Given the description of an element on the screen output the (x, y) to click on. 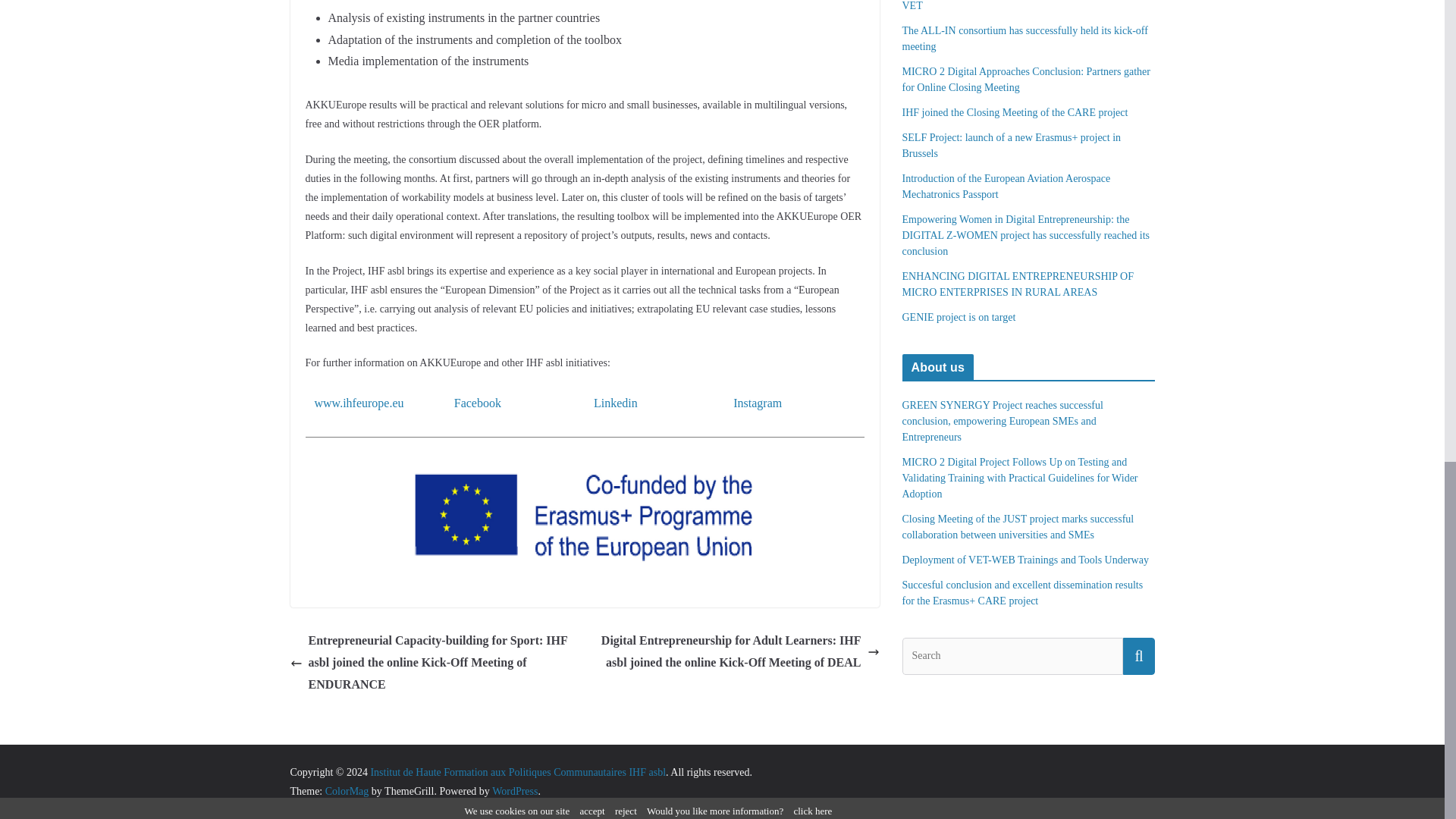
Instagram (757, 402)
WordPress (514, 790)
Linkedin (615, 402)
ColorMag (346, 790)
Facebook (477, 402)
www.ihfeurope.eu (358, 402)
